Given the description of an element on the screen output the (x, y) to click on. 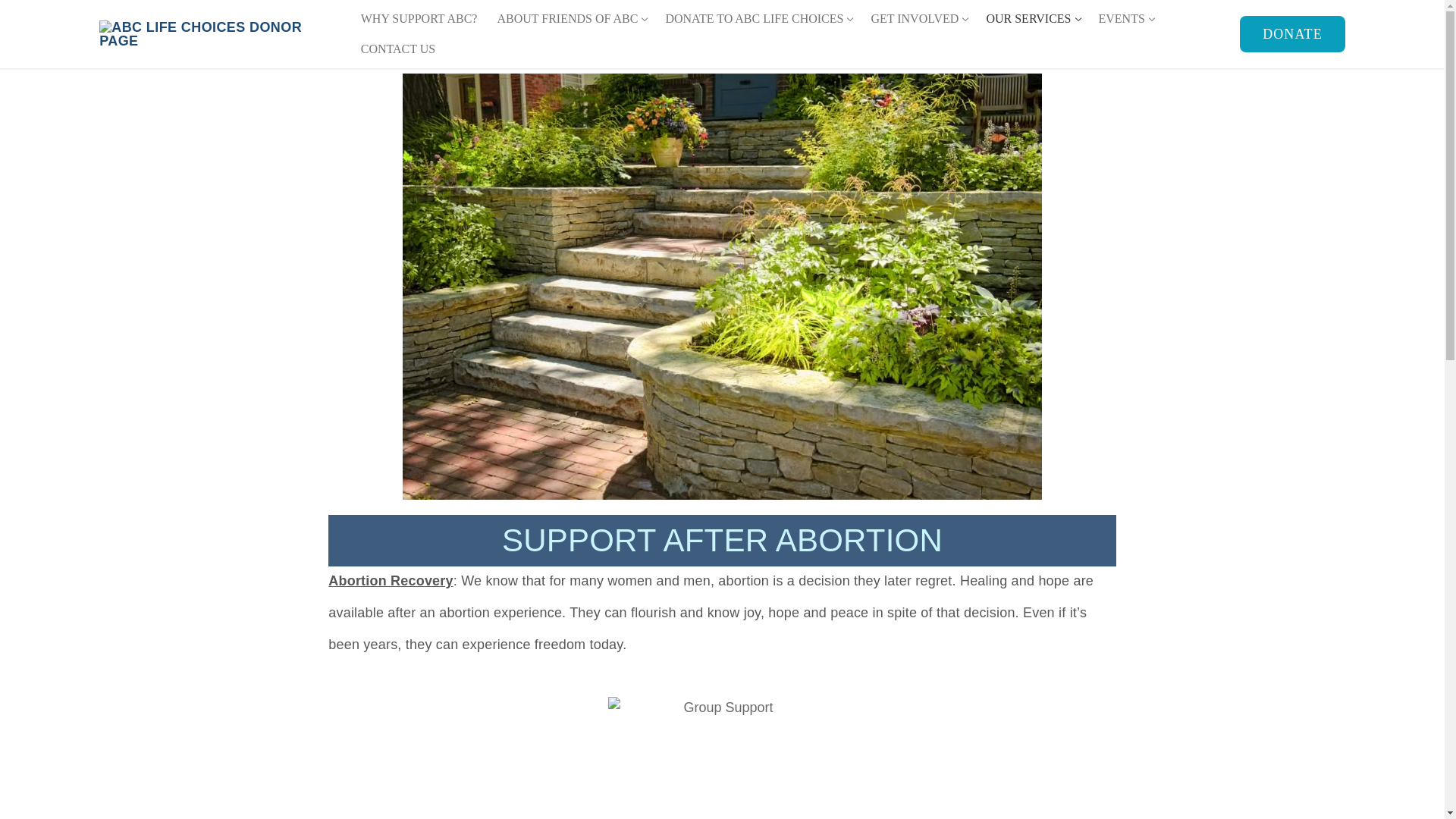
CONTACT US (1031, 19)
DONATE (917, 19)
WHY SUPPORT ABC? (397, 49)
ABOUT FRIENDS OF ABC (570, 19)
HOME (1292, 33)
